Given the description of an element on the screen output the (x, y) to click on. 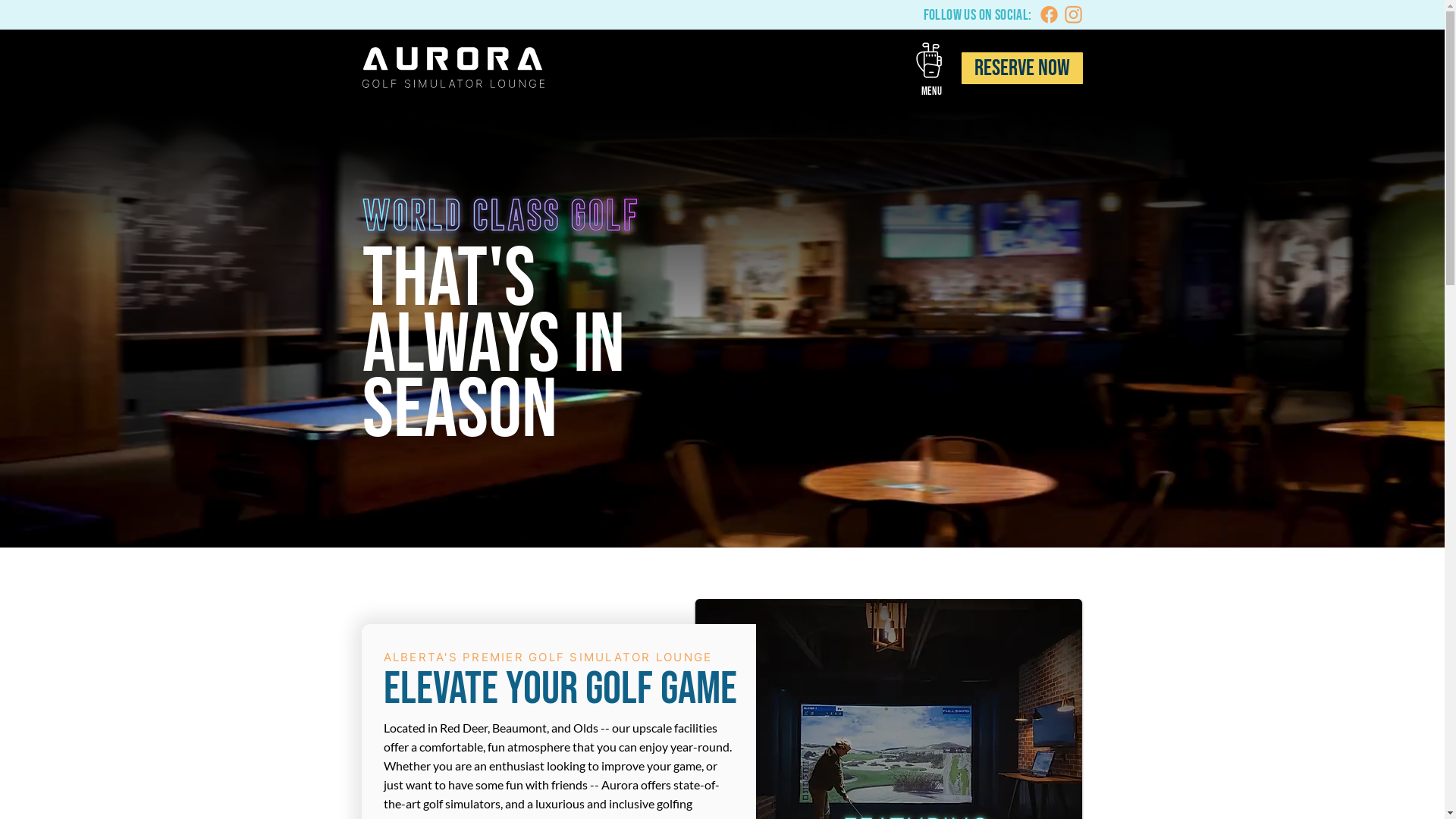
RESERVE NOW Element type: text (1021, 68)
Cup of Coffee Element type: hover (930, 59)
